Given the description of an element on the screen output the (x, y) to click on. 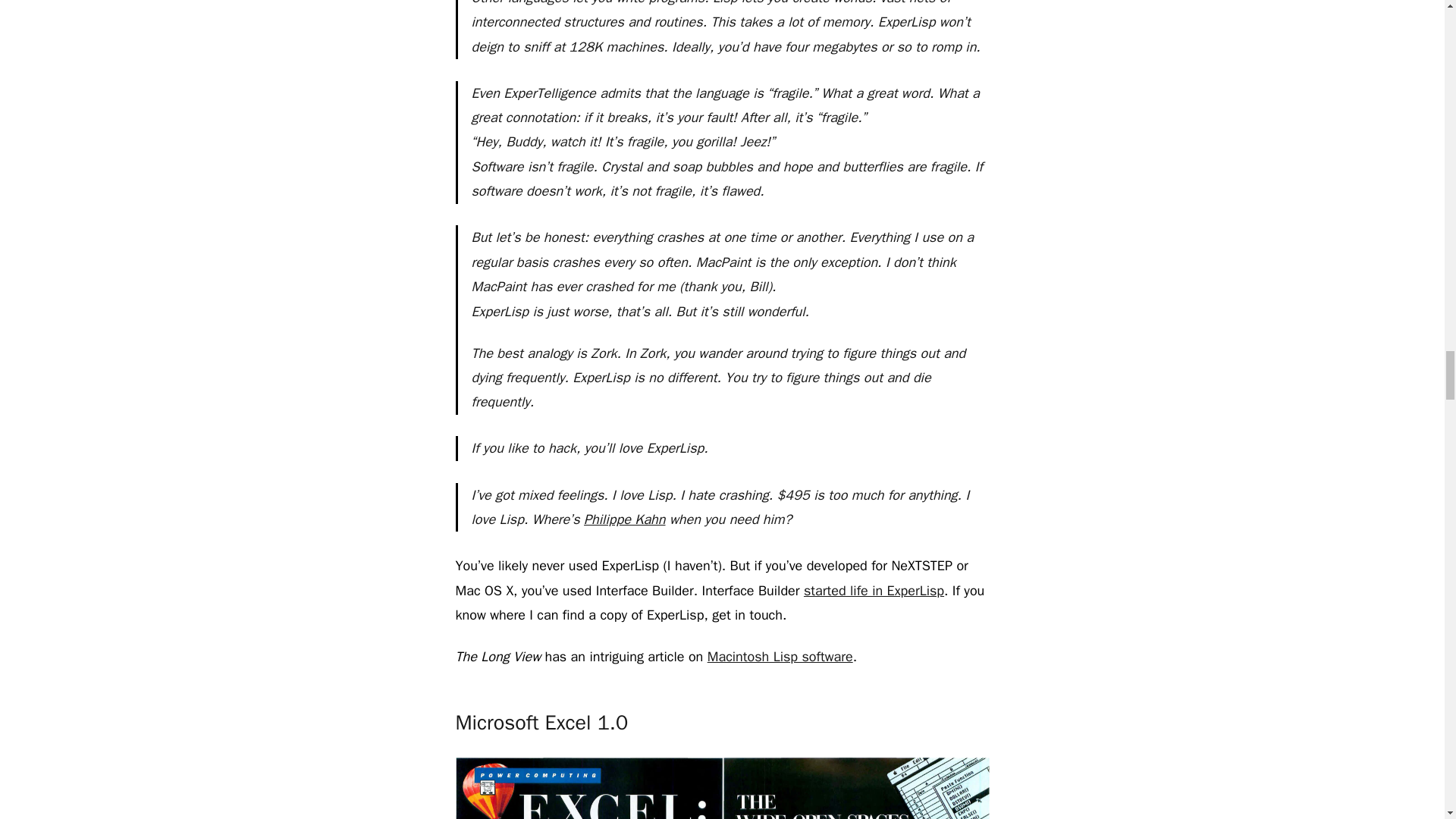
Philippe Kahn (624, 519)
Excel: The Wide Open Spaces (721, 788)
started life in ExperLisp (873, 590)
Macintosh Lisp software (780, 656)
